Given the description of an element on the screen output the (x, y) to click on. 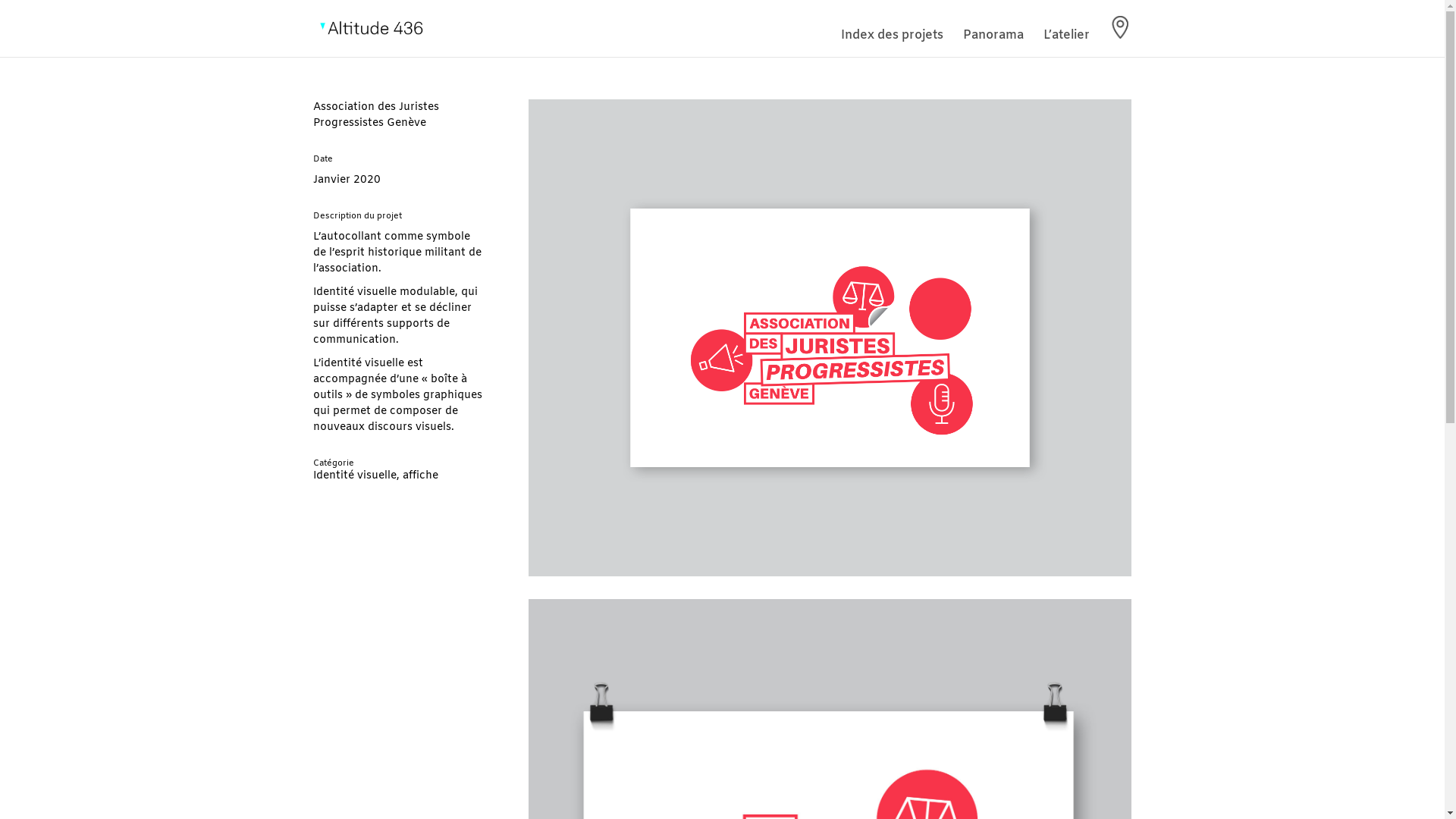
Index des projets Element type: text (891, 43)
Panorama Element type: text (993, 43)
Alt436-AJP-01 Element type: hover (829, 337)
